Given the description of an element on the screen output the (x, y) to click on. 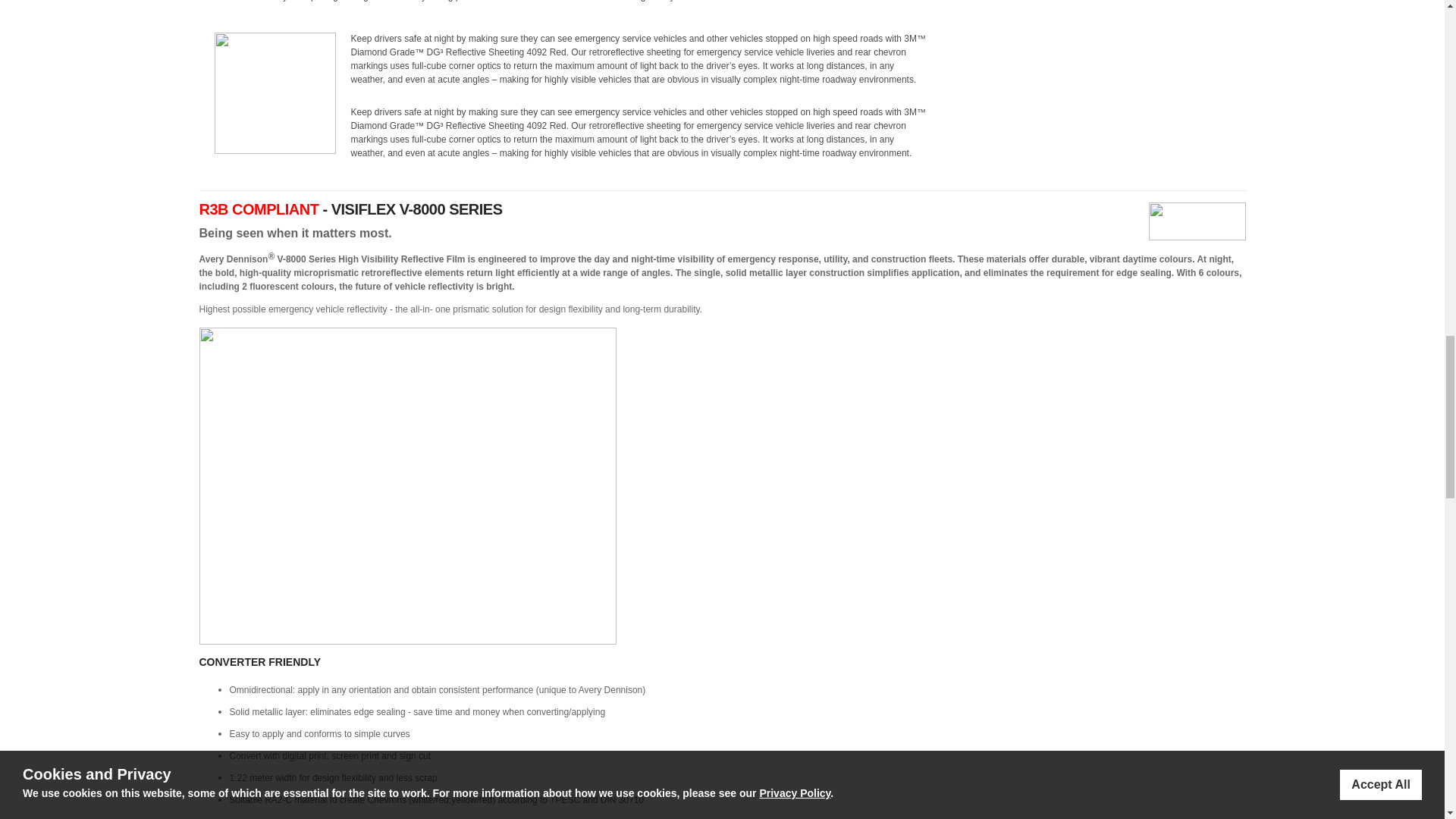
Page 2 (721, 309)
Page 8 (721, 282)
Page 2 (721, 221)
